Given the description of an element on the screen output the (x, y) to click on. 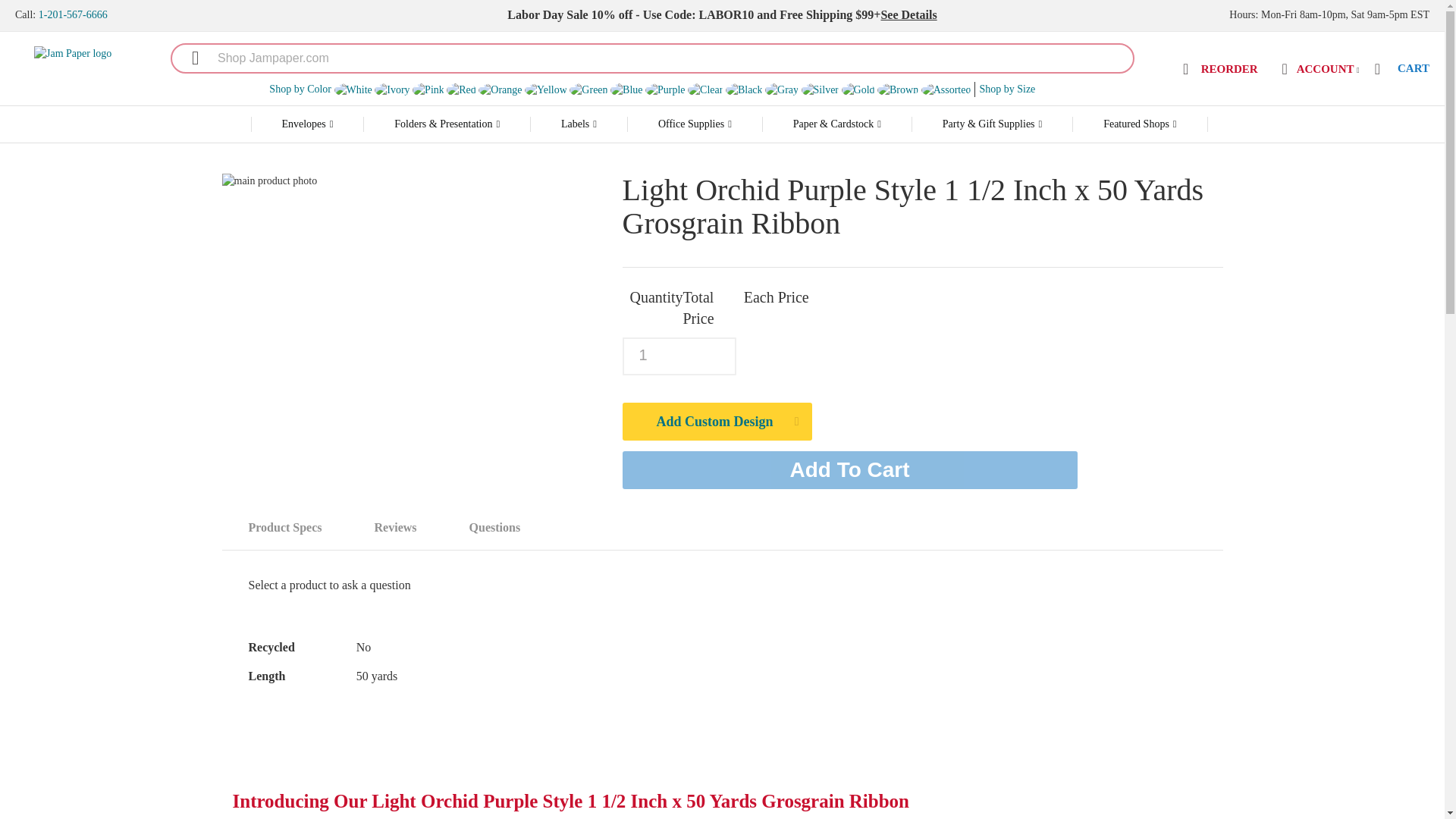
Envelopes (307, 124)
Shop by Size (1006, 89)
Quantity (678, 356)
1 (678, 356)
1-201-567-6666 (73, 14)
Search (187, 57)
Search (187, 57)
REORDER (1217, 70)
Reorder (1217, 70)
Shop by Color (300, 89)
